Given the description of an element on the screen output the (x, y) to click on. 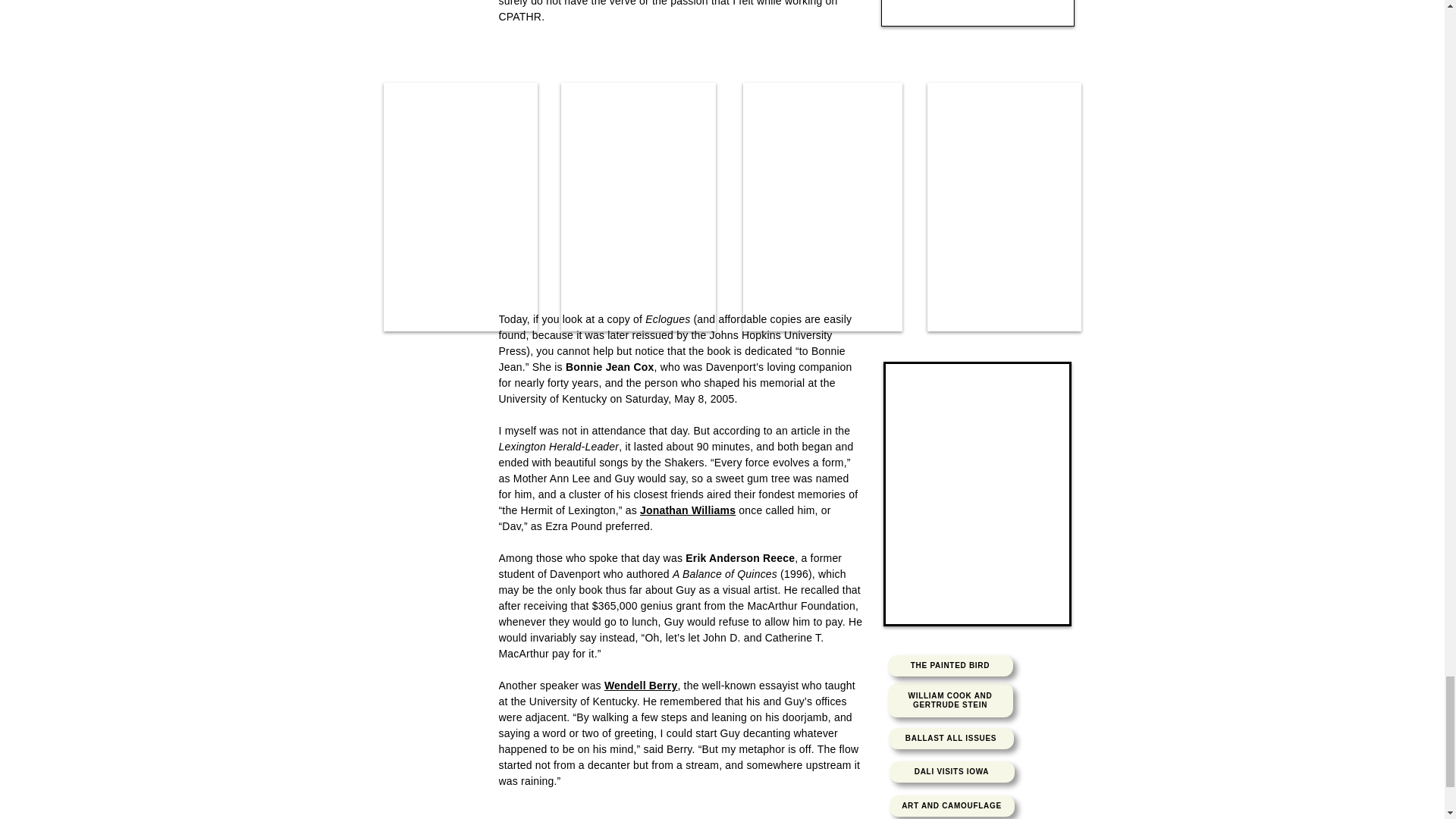
Wendell Berry (641, 685)
BALLAST ALL ISSUES (950, 738)
THE PAINTED BIRD (948, 665)
DALI VISITS IOWA (950, 771)
ART AND CAMOUFLAGE (950, 805)
Jonathan Williams (687, 510)
WILLIAM COOK AND GERTRUDE STEIN (948, 700)
